Given the description of an element on the screen output the (x, y) to click on. 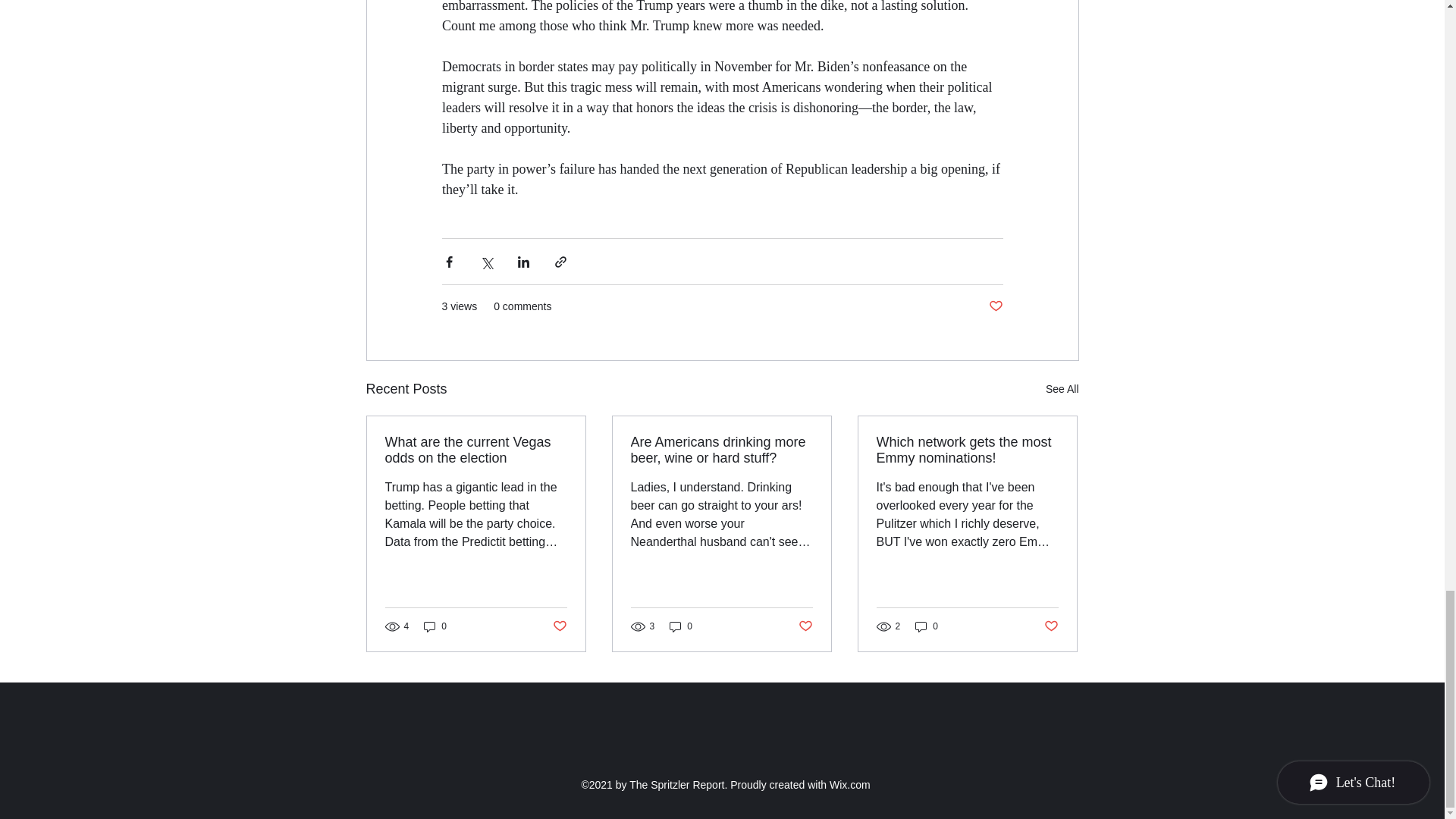
Post not marked as liked (558, 625)
Post not marked as liked (1050, 625)
Post not marked as liked (995, 306)
See All (1061, 389)
0 (681, 626)
Post not marked as liked (804, 625)
Which network gets the most Emmy nominations! (967, 450)
0 (435, 626)
What are the current Vegas odds on the election (476, 450)
Are Americans drinking more beer, wine or hard stuff? (721, 450)
0 (926, 626)
